Given the description of an element on the screen output the (x, y) to click on. 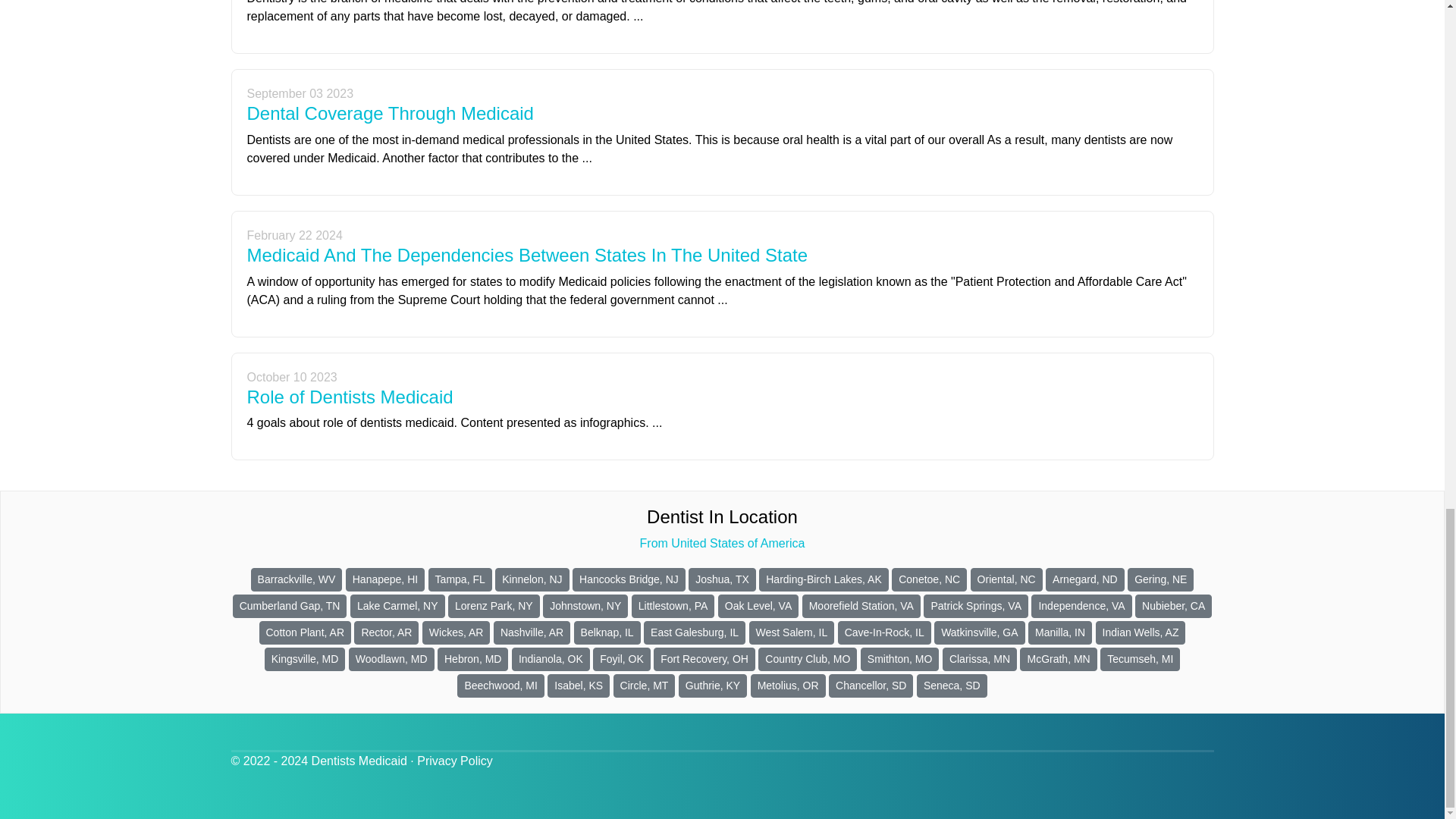
Harding-Birch Lakes, AK (823, 579)
Kinnelon, NJ (532, 579)
Role of Dentists Medicaid (349, 396)
Joshua, TX (721, 579)
Lake Carmel, NY (397, 606)
Tampa, FL (460, 579)
Hanapepe, HI (385, 579)
Hancocks Bridge, NJ (628, 579)
Lorenz Park, NY (494, 606)
Arnegard, ND (1084, 579)
Conetoe, NC (928, 579)
Dental Coverage Through Medicaid (390, 113)
Cumberland Gap, TN (289, 606)
Gering, NE (1159, 579)
